Given the description of an element on the screen output the (x, y) to click on. 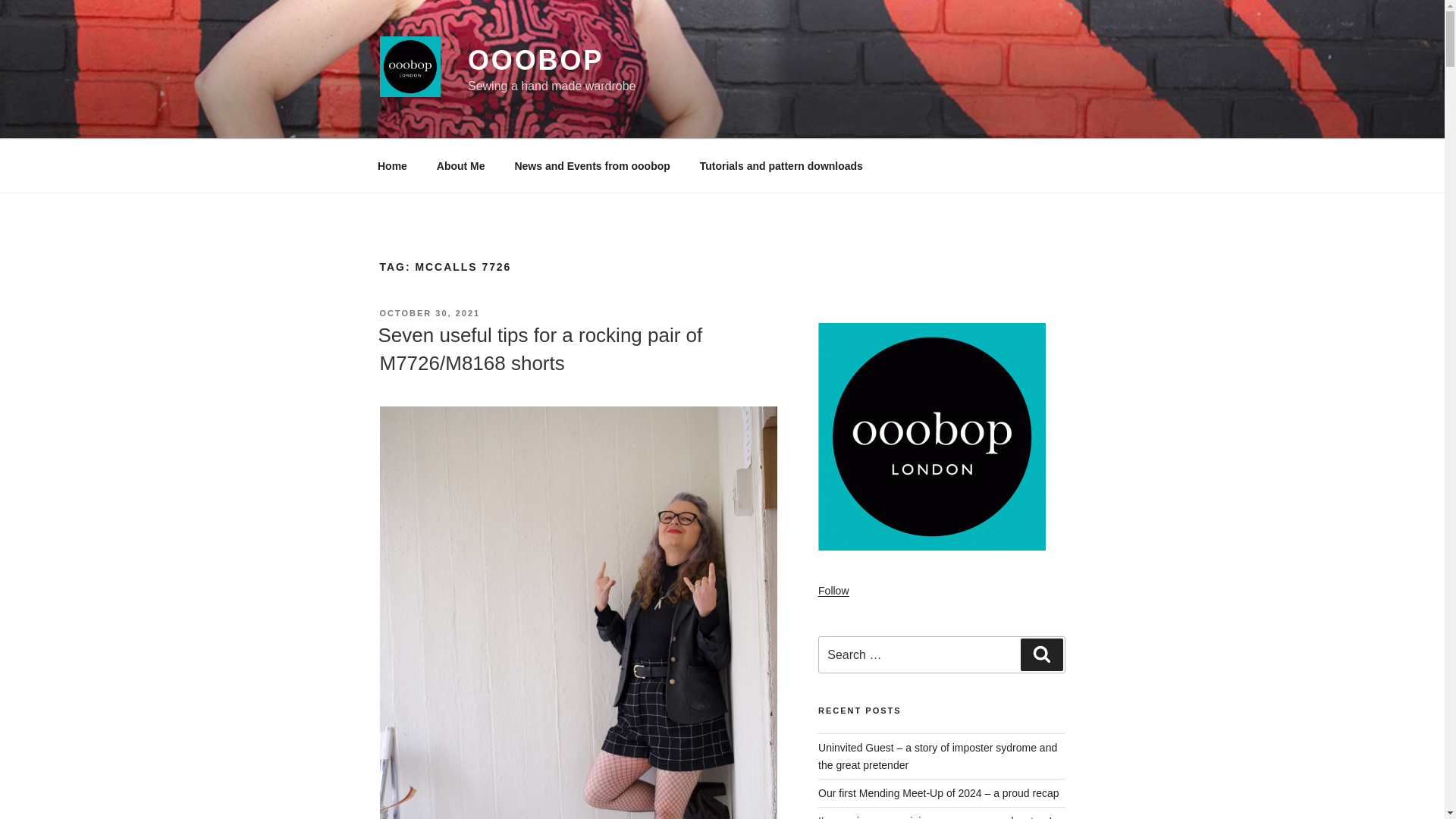
Tutorials and pattern downloads (780, 165)
OCTOBER 30, 2021 (429, 312)
About Me (460, 165)
OOOBOP (535, 60)
News and Events from ooobop (591, 165)
Tutorials and pattern downloads (780, 165)
Home (392, 165)
Home (392, 165)
